Given the description of an element on the screen output the (x, y) to click on. 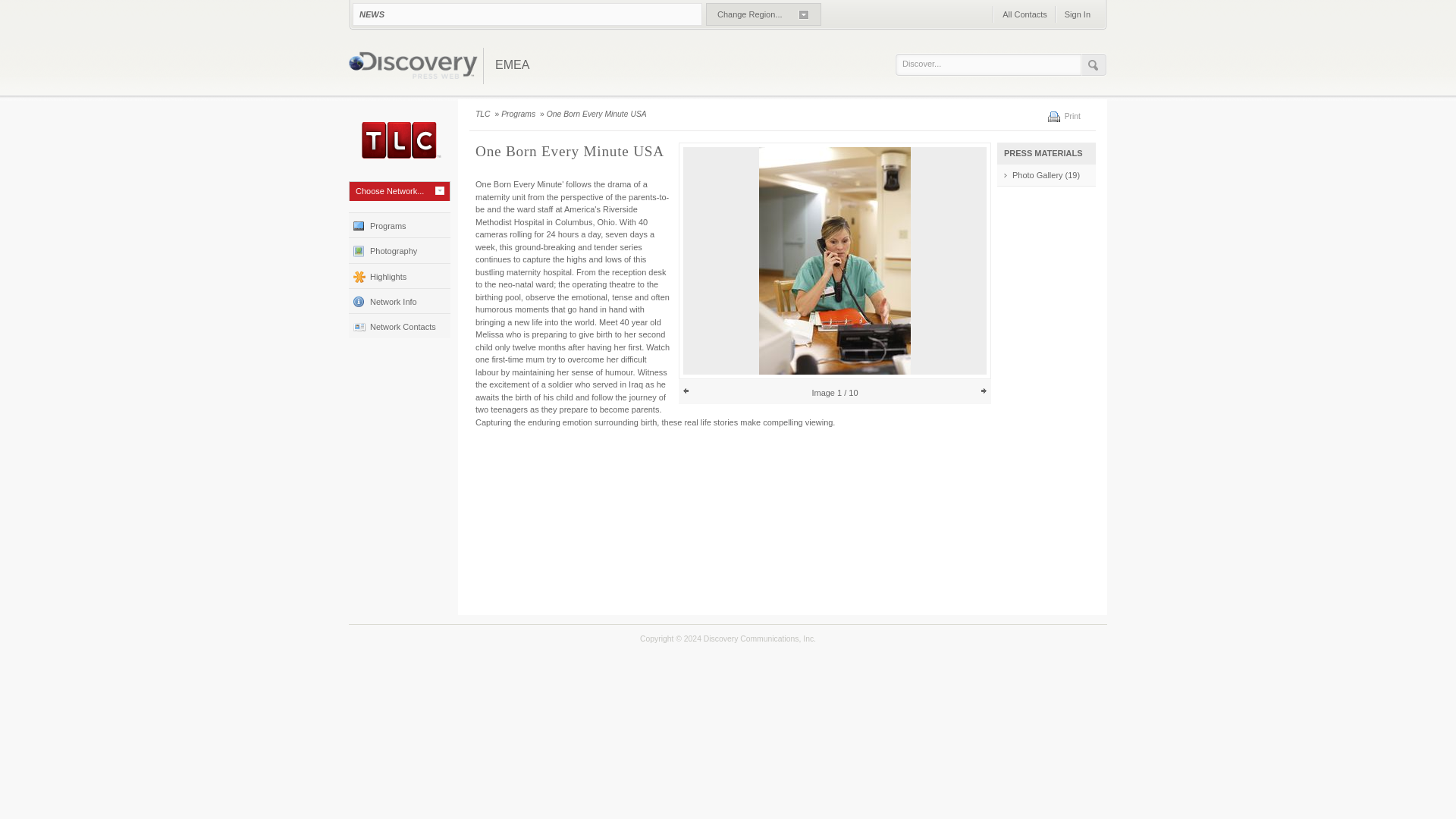
Programs (518, 113)
Previous (686, 391)
Discovery Press Web (413, 66)
Highlights (399, 275)
Photography (399, 249)
TLC (484, 113)
Discover... (991, 63)
One Born Every Minute USA (598, 113)
Search (1093, 64)
TLC (399, 139)
All Contacts (1023, 13)
Programs (399, 224)
Sign In (1076, 13)
Next (983, 391)
Network Contacts (399, 325)
